Given the description of an element on the screen output the (x, y) to click on. 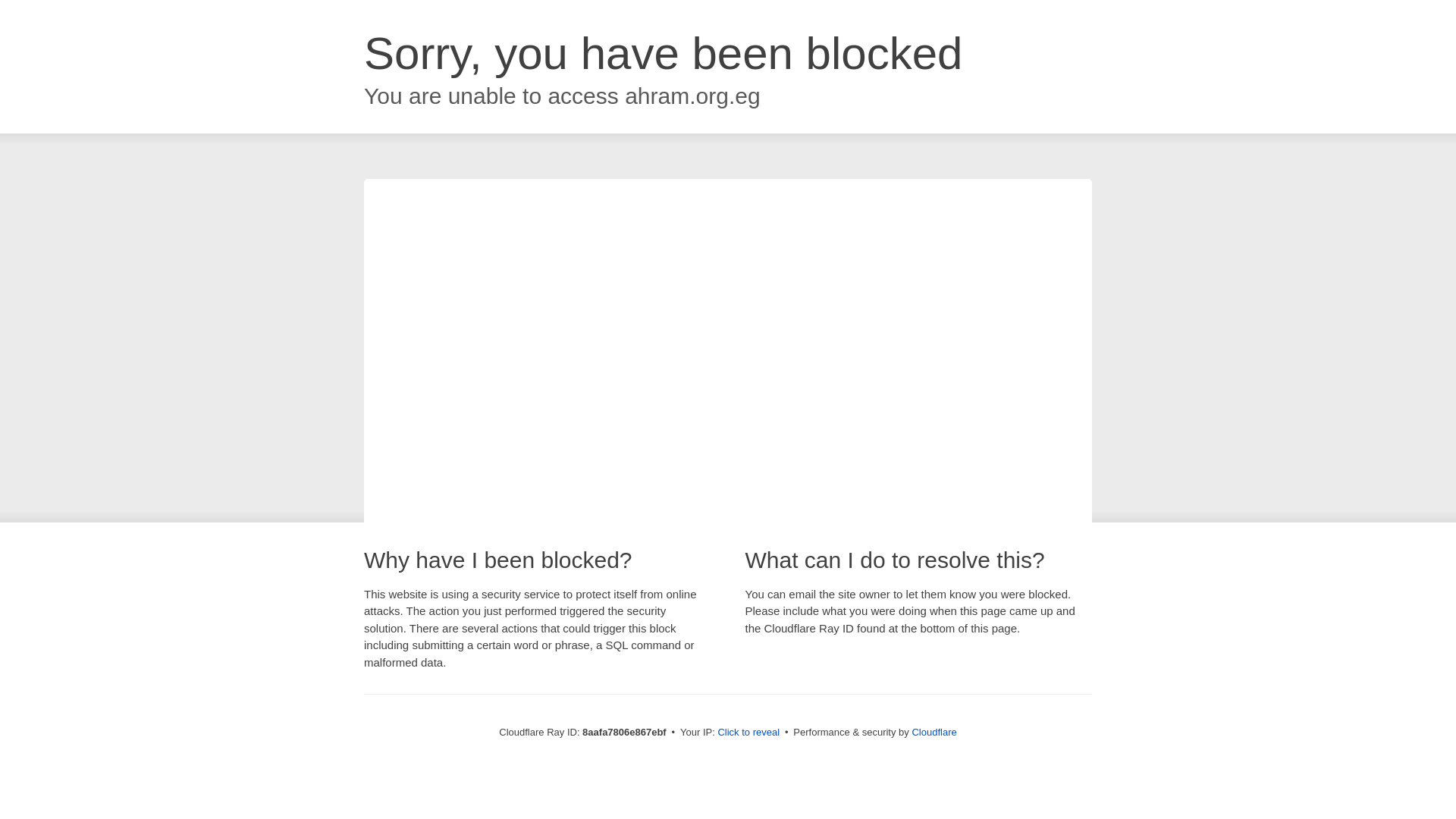
Click to reveal (747, 732)
Cloudflare (933, 731)
